Given the description of an element on the screen output the (x, y) to click on. 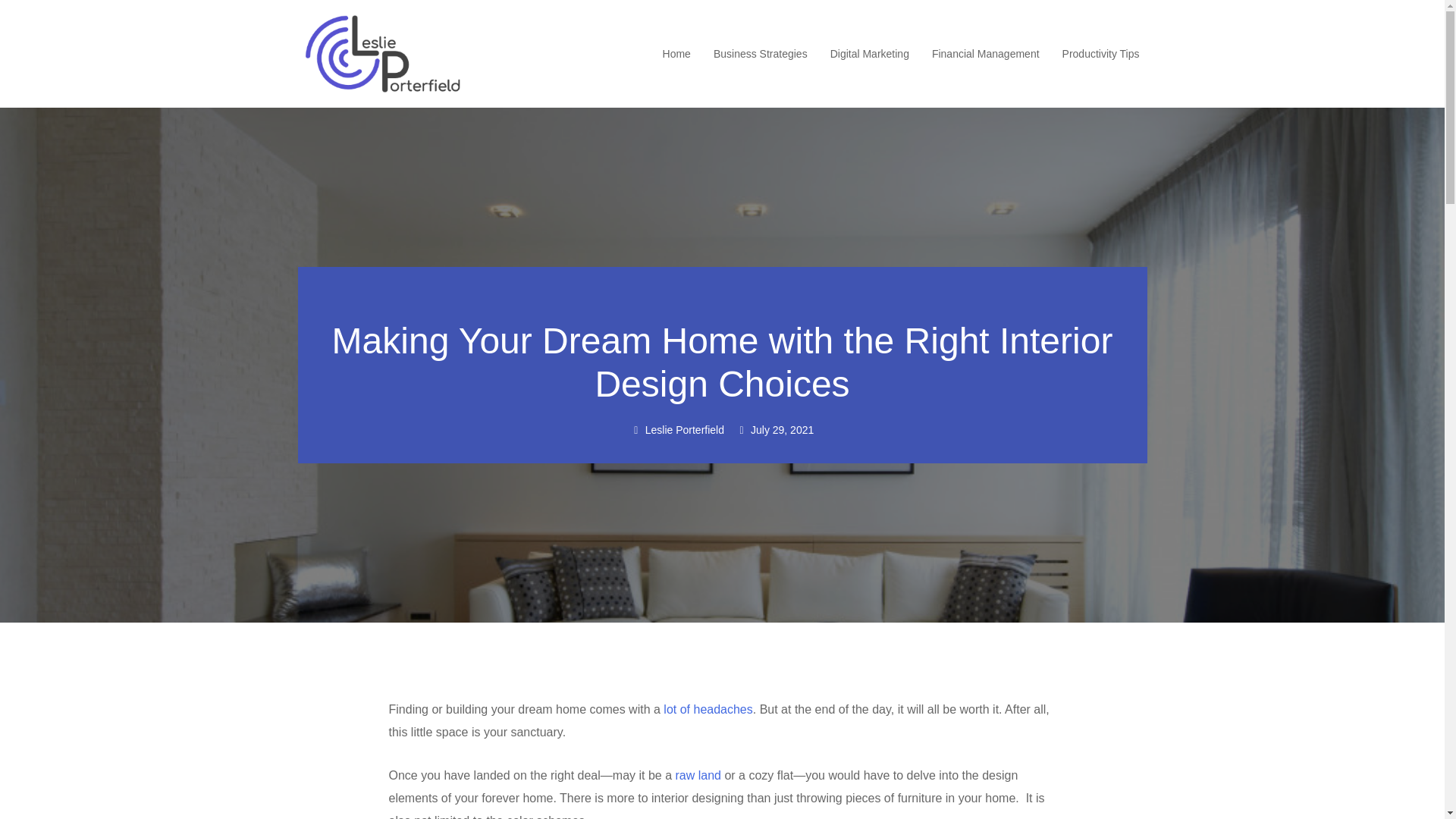
Business Strategies (760, 53)
Leslie Porterfield (676, 430)
Digital Marketing (868, 53)
Productivity Tips (1101, 53)
lot of headaches (707, 708)
Financial Management (985, 53)
UNCATEGORIZED (722, 295)
July 29, 2021 (774, 430)
raw land (697, 775)
Home (676, 53)
